Given the description of an element on the screen output the (x, y) to click on. 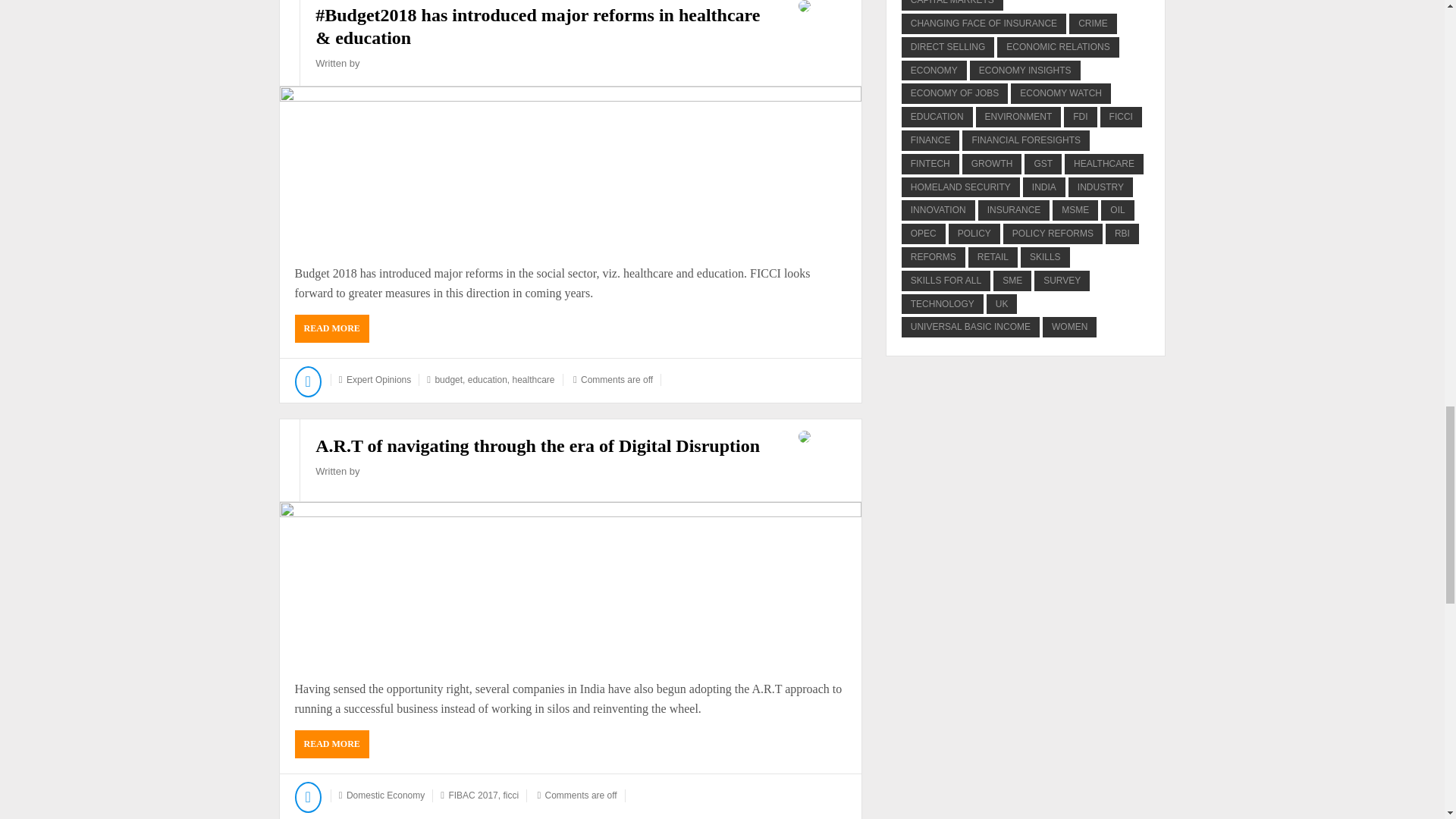
Expert Opinions (378, 379)
healthcare (533, 379)
education (486, 379)
budget (448, 379)
A.R.T of navigating through the era of Digital Disruption (537, 445)
Domestic Economy (385, 795)
